Given the description of an element on the screen output the (x, y) to click on. 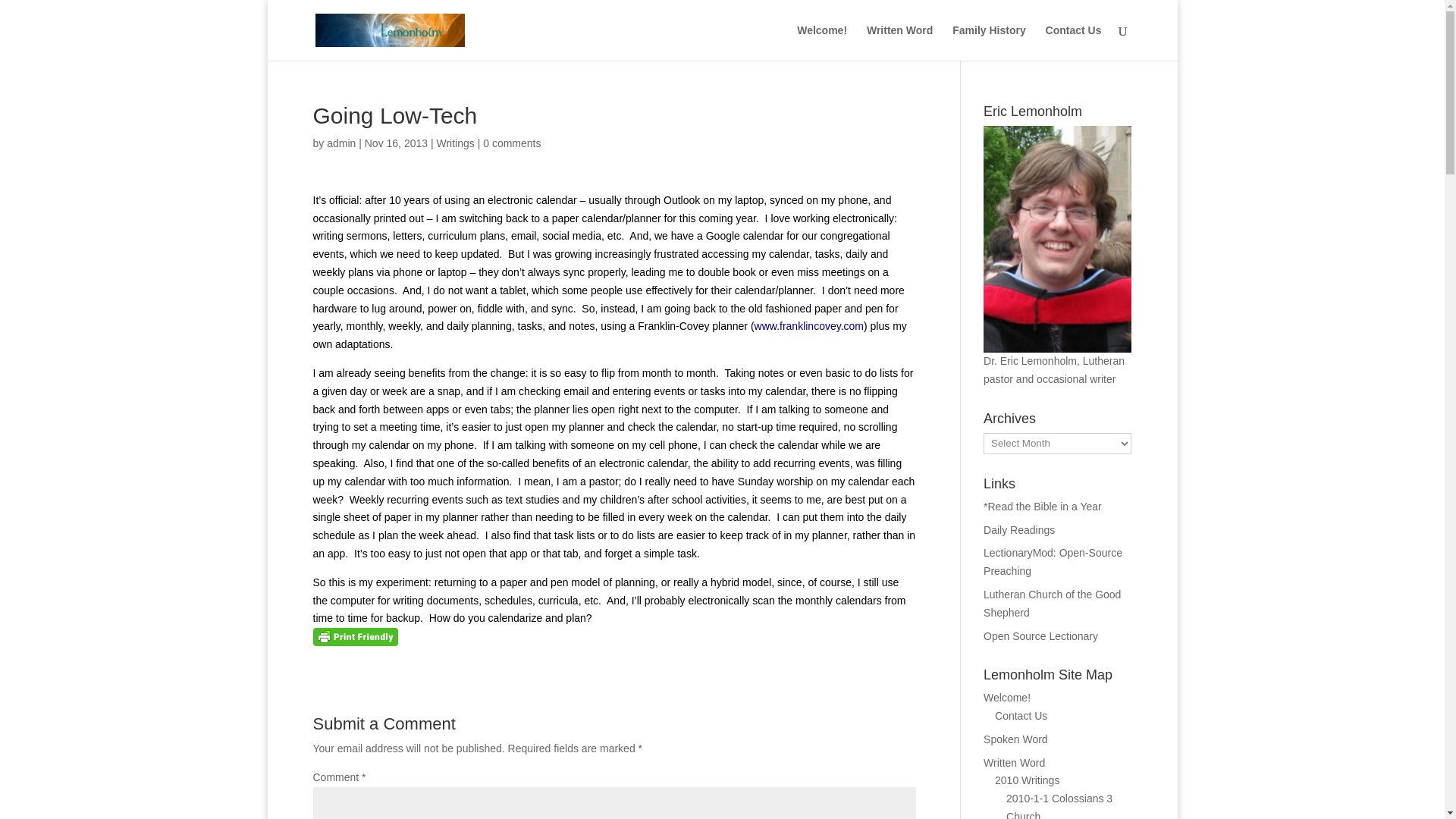
2010-1-1 Colossians 3 Church (1059, 805)
2010 Writings (1026, 779)
Open Source Lectionary (1040, 635)
Family History (988, 42)
Writings (454, 143)
Spoken Word (1016, 739)
Written Word (899, 42)
www.franklincovey.com (808, 326)
admin (340, 143)
